Given the description of an element on the screen output the (x, y) to click on. 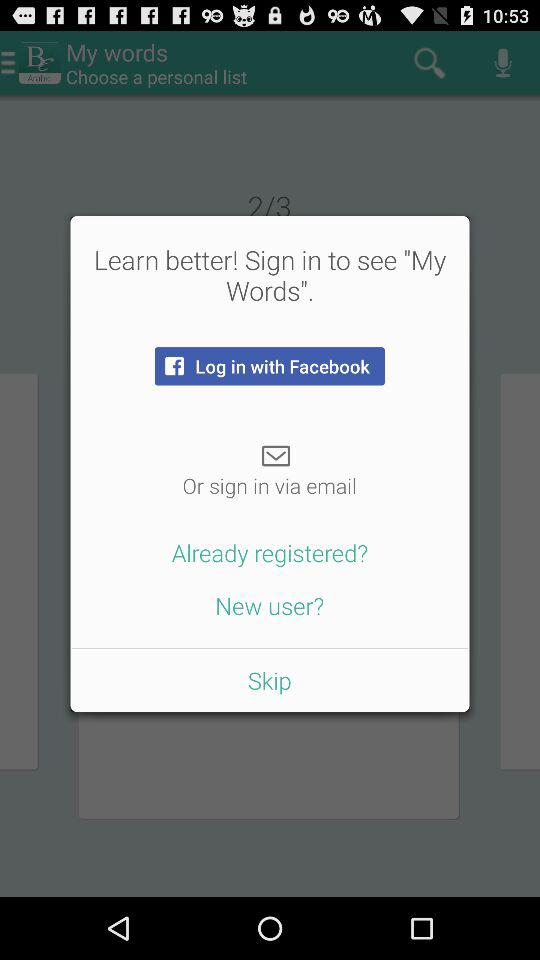
choose the skip (269, 680)
